Given the description of an element on the screen output the (x, y) to click on. 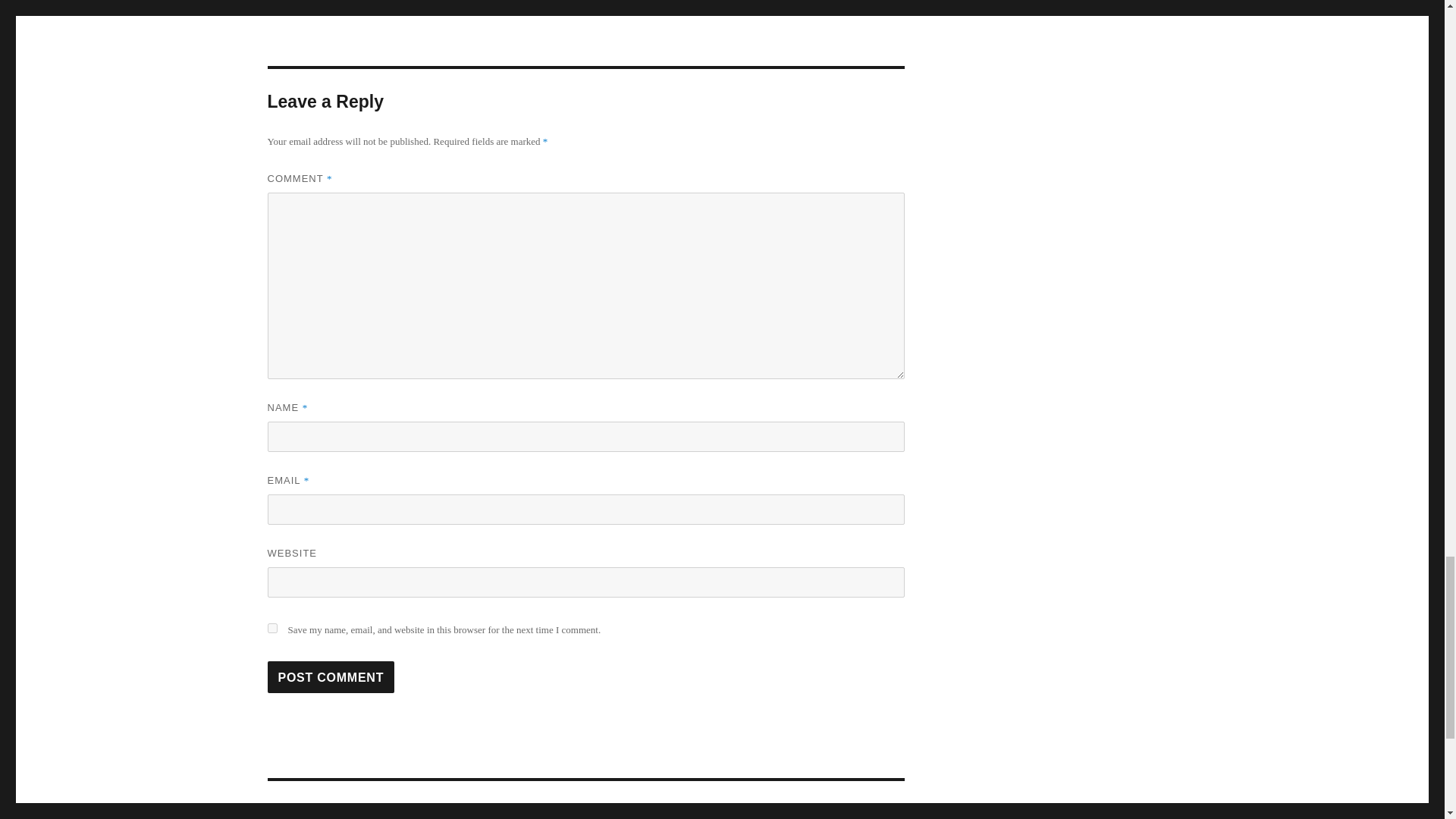
yes (271, 628)
Post Comment (330, 676)
Post Comment (330, 676)
